Given the description of an element on the screen output the (x, y) to click on. 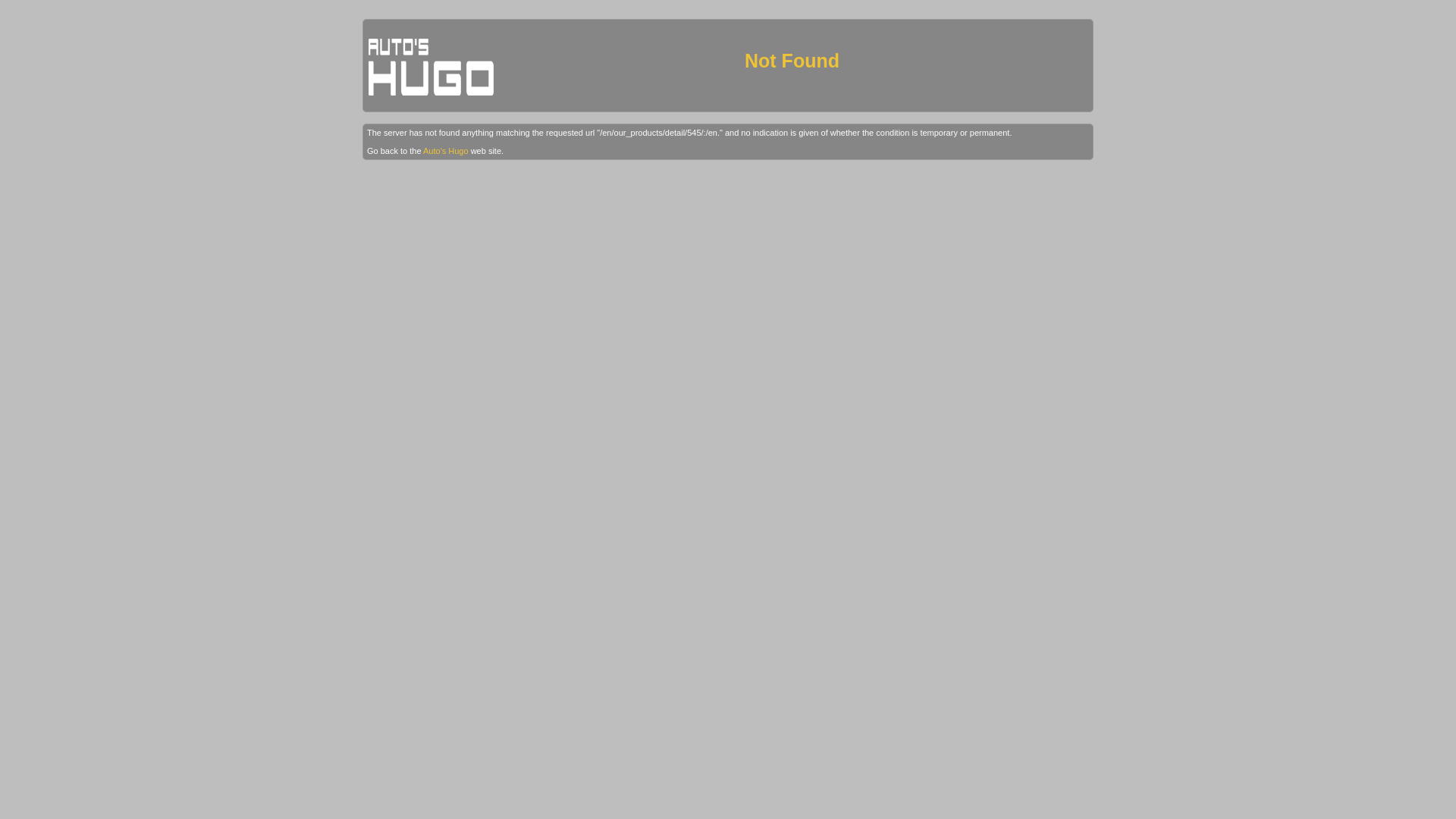
Auto's Hugo Element type: text (445, 150)
